Given the description of an element on the screen output the (x, y) to click on. 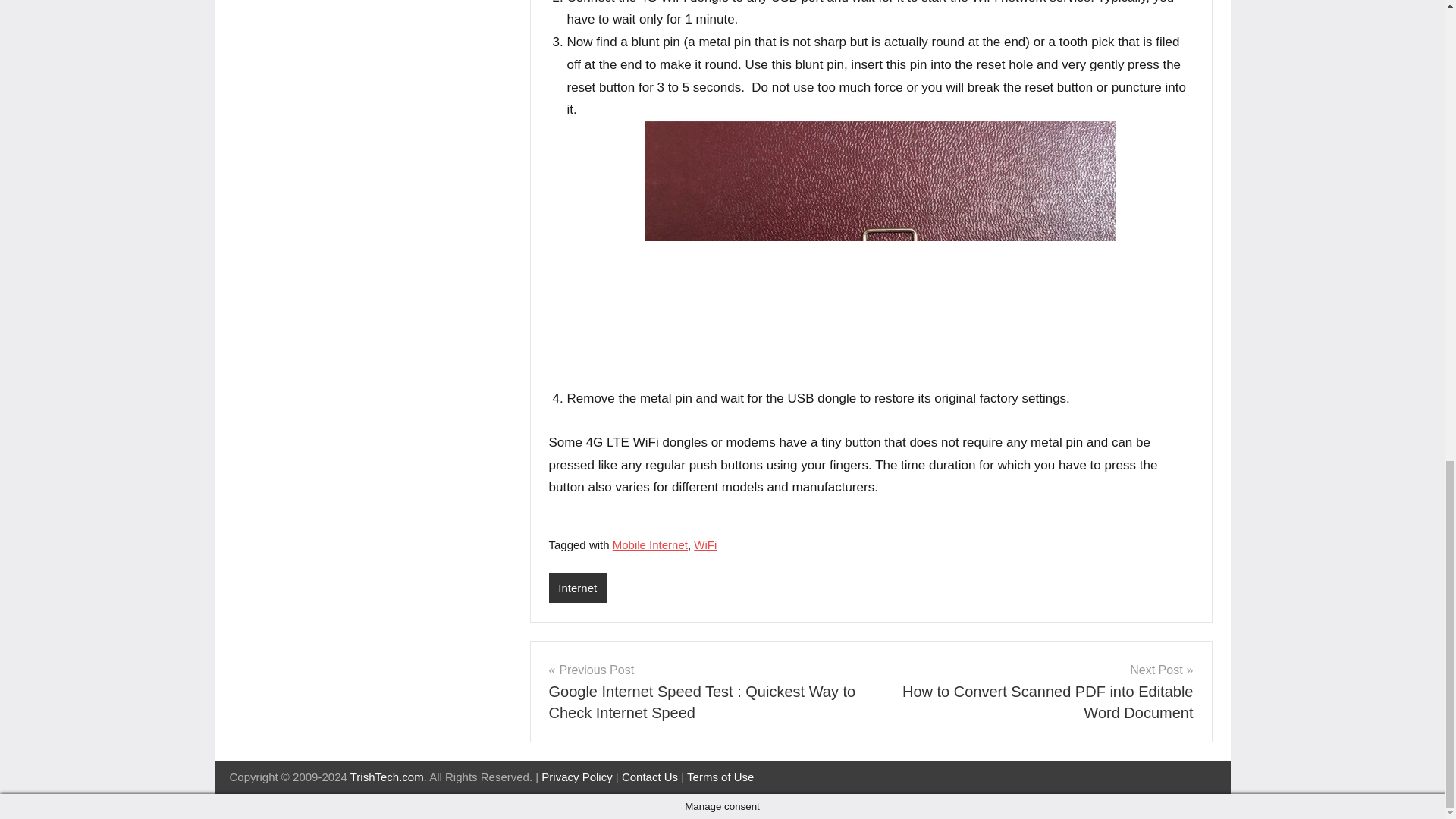
Contact Us (649, 776)
Privacy Policy (576, 776)
Terms of Use (720, 776)
WiFi (705, 544)
Mobile Internet (649, 544)
TrishTech.com (386, 776)
Internet (577, 587)
